Given the description of an element on the screen output the (x, y) to click on. 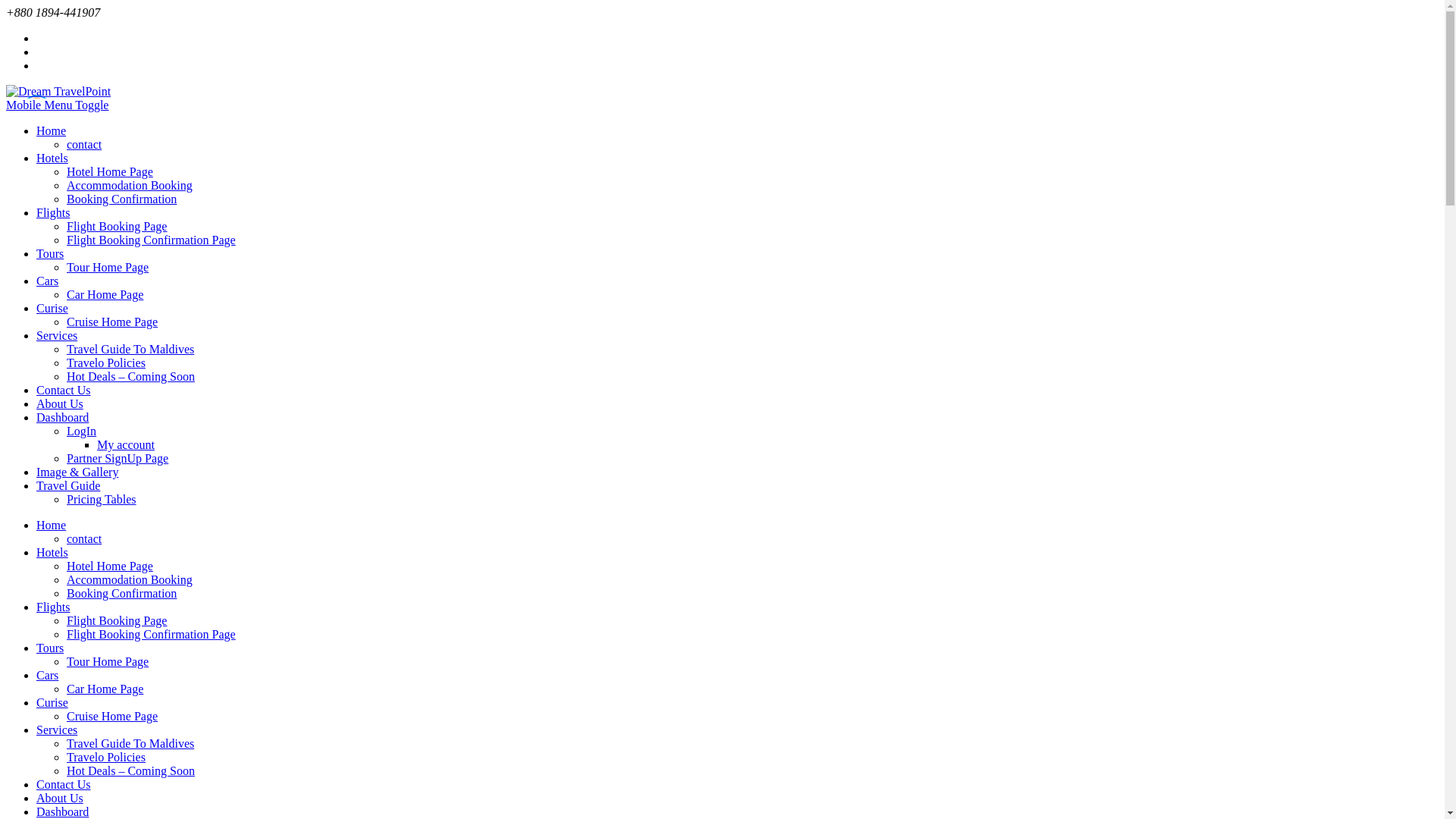
Services Element type: text (56, 729)
Accommodation Booking Element type: text (129, 579)
Tour Home Page Element type: text (107, 266)
Home Element type: text (50, 130)
Travel Guide To Maldives Element type: text (130, 743)
About Us Element type: text (59, 797)
Cruise Home Page Element type: text (111, 321)
LogIn Element type: text (81, 430)
Contact Us Element type: text (63, 784)
Travelo Policies Element type: text (105, 362)
About Us Element type: text (59, 403)
Hotels Element type: text (52, 157)
Flight Booking Page Element type: text (116, 225)
My account Element type: text (125, 444)
Contact Us Element type: text (63, 389)
Flights Element type: text (52, 606)
Hotel Home Page Element type: text (109, 171)
Travel Guide Element type: text (68, 485)
Flight Booking Confirmation Page Element type: text (150, 633)
Cars Element type: text (47, 280)
Dashboard Element type: text (62, 811)
Mobile Menu Toggle Element type: text (57, 104)
Curise Element type: text (52, 307)
Home Element type: text (50, 524)
contact Element type: text (83, 538)
Hotels Element type: text (52, 552)
Hotel Home Page Element type: text (109, 565)
Tours Element type: text (49, 647)
contact Element type: text (83, 144)
Tours Element type: text (49, 253)
Travelo Policies Element type: text (105, 756)
Flight Booking Confirmation Page Element type: text (150, 239)
Accommodation Booking Element type: text (129, 184)
Dashboard Element type: text (62, 417)
Image & Gallery Element type: text (77, 471)
Cars Element type: text (47, 674)
Services Element type: text (56, 335)
Flight Booking Page Element type: text (116, 620)
Flights Element type: text (52, 212)
Car Home Page Element type: text (104, 294)
Booking Confirmation Element type: text (121, 592)
Cruise Home Page Element type: text (111, 715)
Partner SignUp Page Element type: text (117, 457)
Booking Confirmation Element type: text (121, 198)
Travel Guide To Maldives Element type: text (130, 348)
Pricing Tables Element type: text (100, 498)
Curise Element type: text (52, 702)
Tour Home Page Element type: text (107, 661)
Car Home Page Element type: text (104, 688)
